Given the description of an element on the screen output the (x, y) to click on. 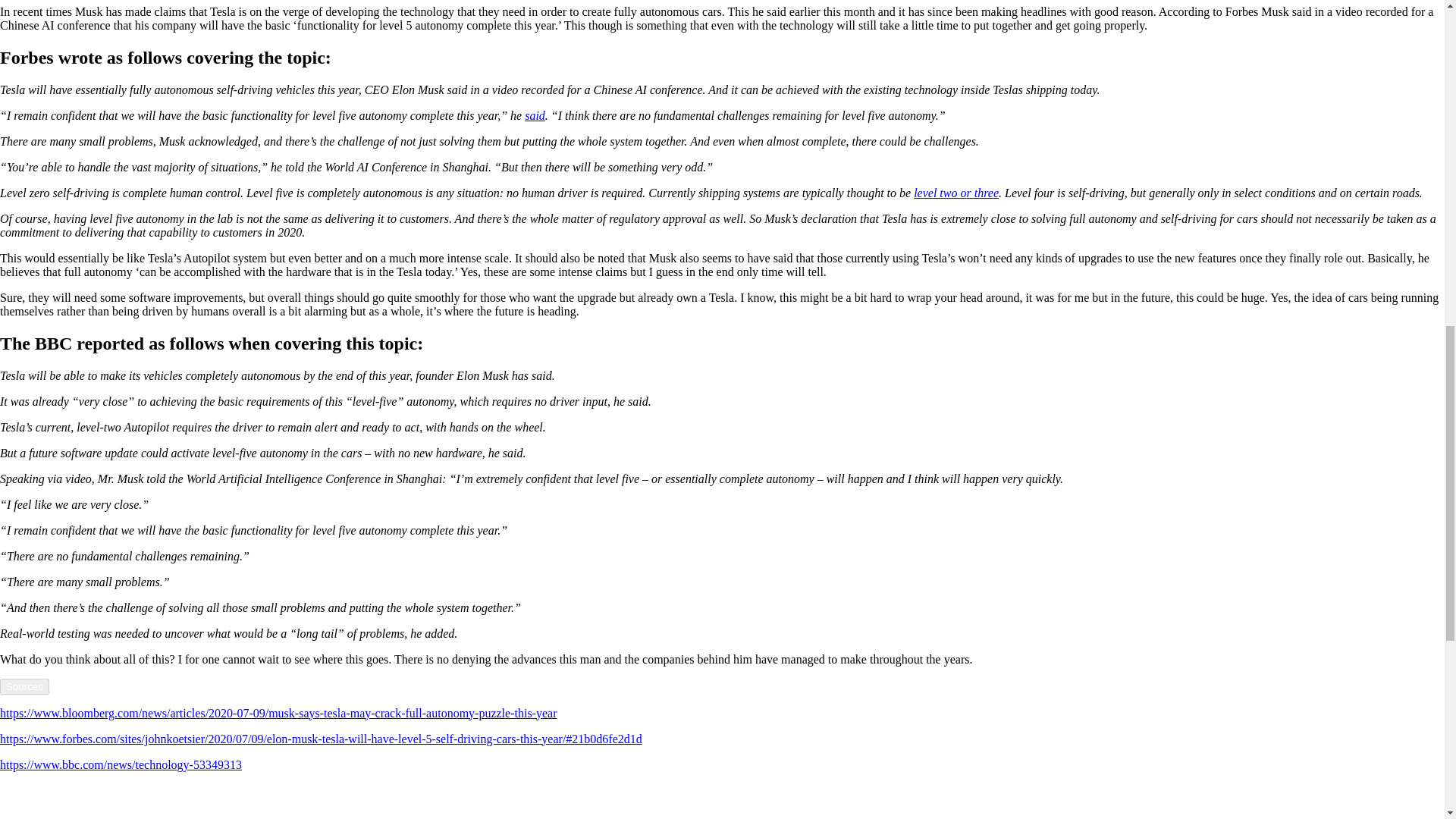
said (534, 115)
Sources (24, 686)
level two or three (956, 192)
